Given the description of an element on the screen output the (x, y) to click on. 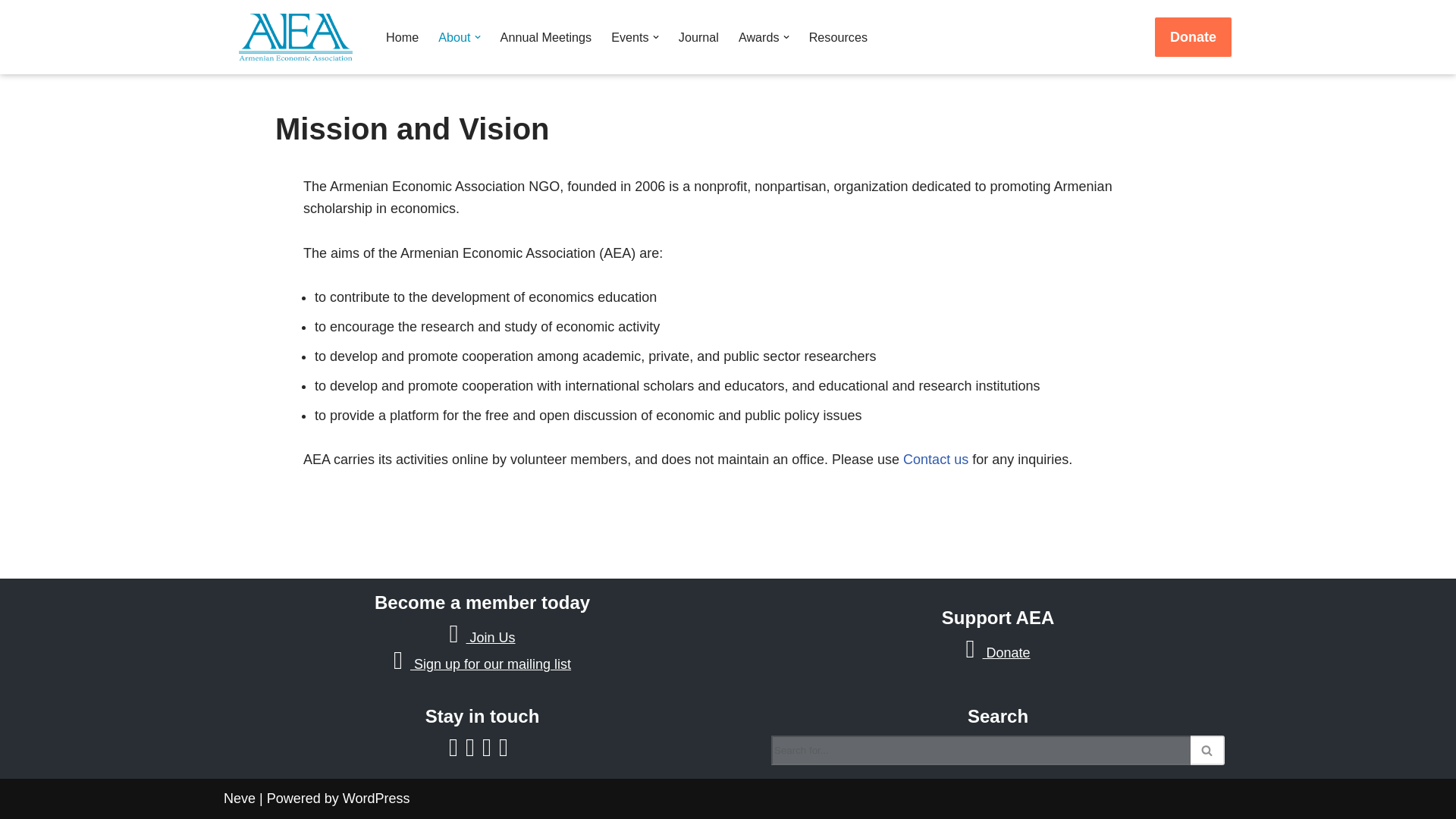
Events (630, 37)
Donate (1192, 37)
Annual Meetings (546, 37)
Journal (698, 37)
Home (402, 37)
Skip to content (11, 31)
Resources (838, 37)
Awards (758, 37)
About (454, 37)
